Given the description of an element on the screen output the (x, y) to click on. 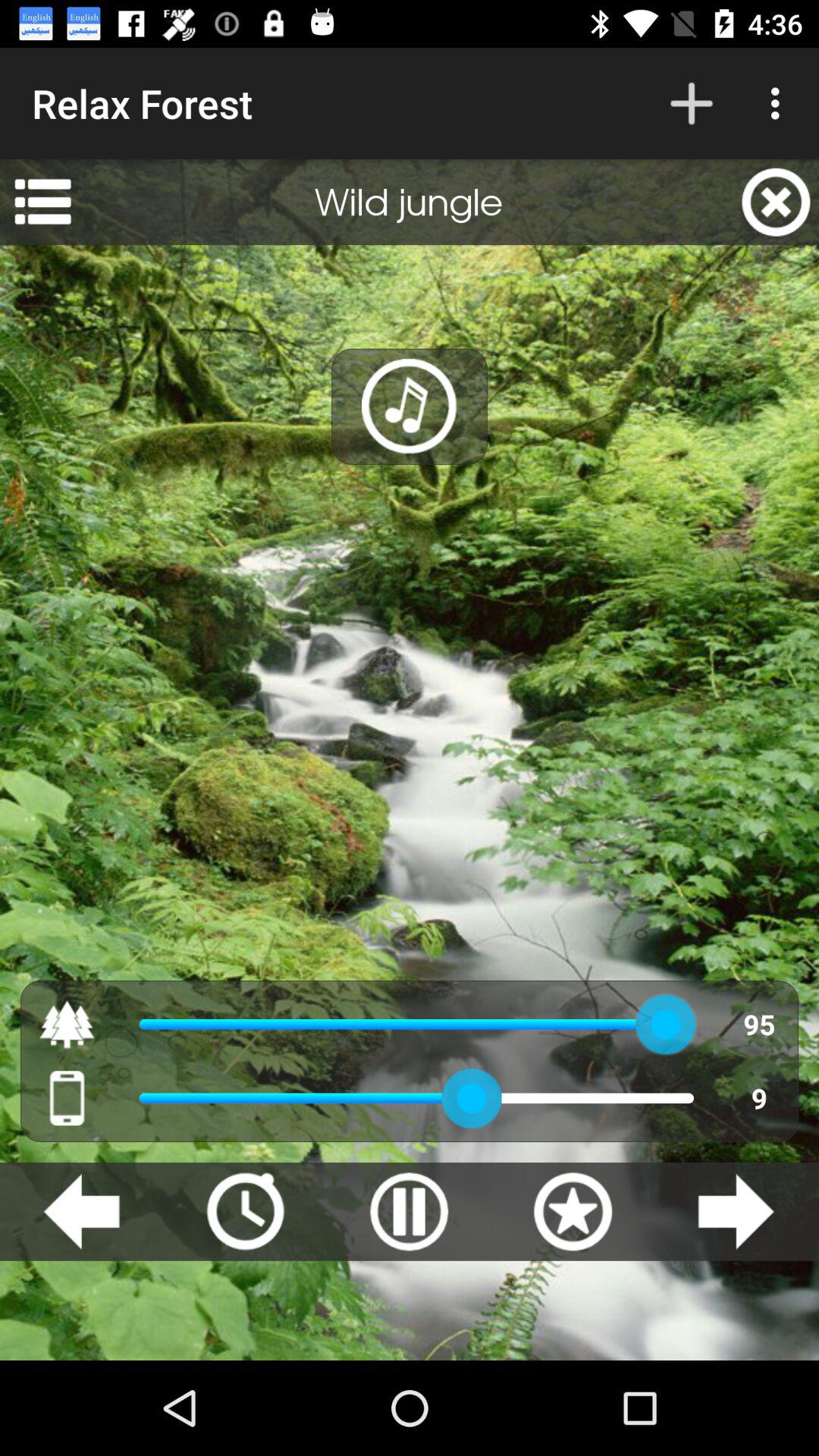
tap the app to the left of the wild jungle item (42, 202)
